Given the description of an element on the screen output the (x, y) to click on. 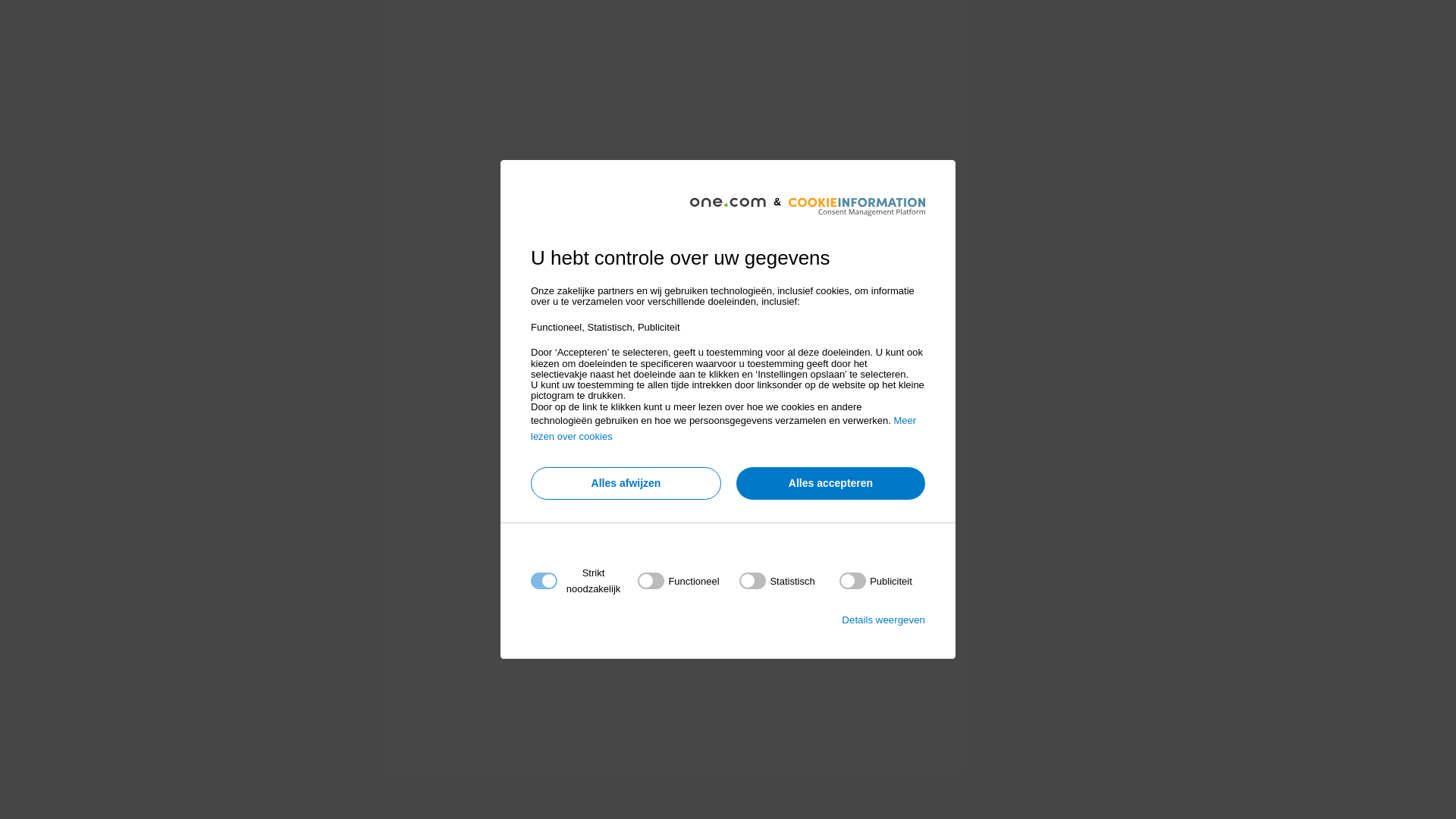
Alles accepteren Element type: text (830, 483)
Strikt noodzakelijk Element type: text (723, 673)
Meer lezen over cookies Element type: text (723, 428)
on Element type: text (776, 580)
on Element type: text (677, 580)
Functioneel Element type: text (723, 763)
on Element type: text (875, 580)
Details weergeven Element type: text (883, 619)
Alles afwijzen Element type: text (625, 483)
